Given the description of an element on the screen output the (x, y) to click on. 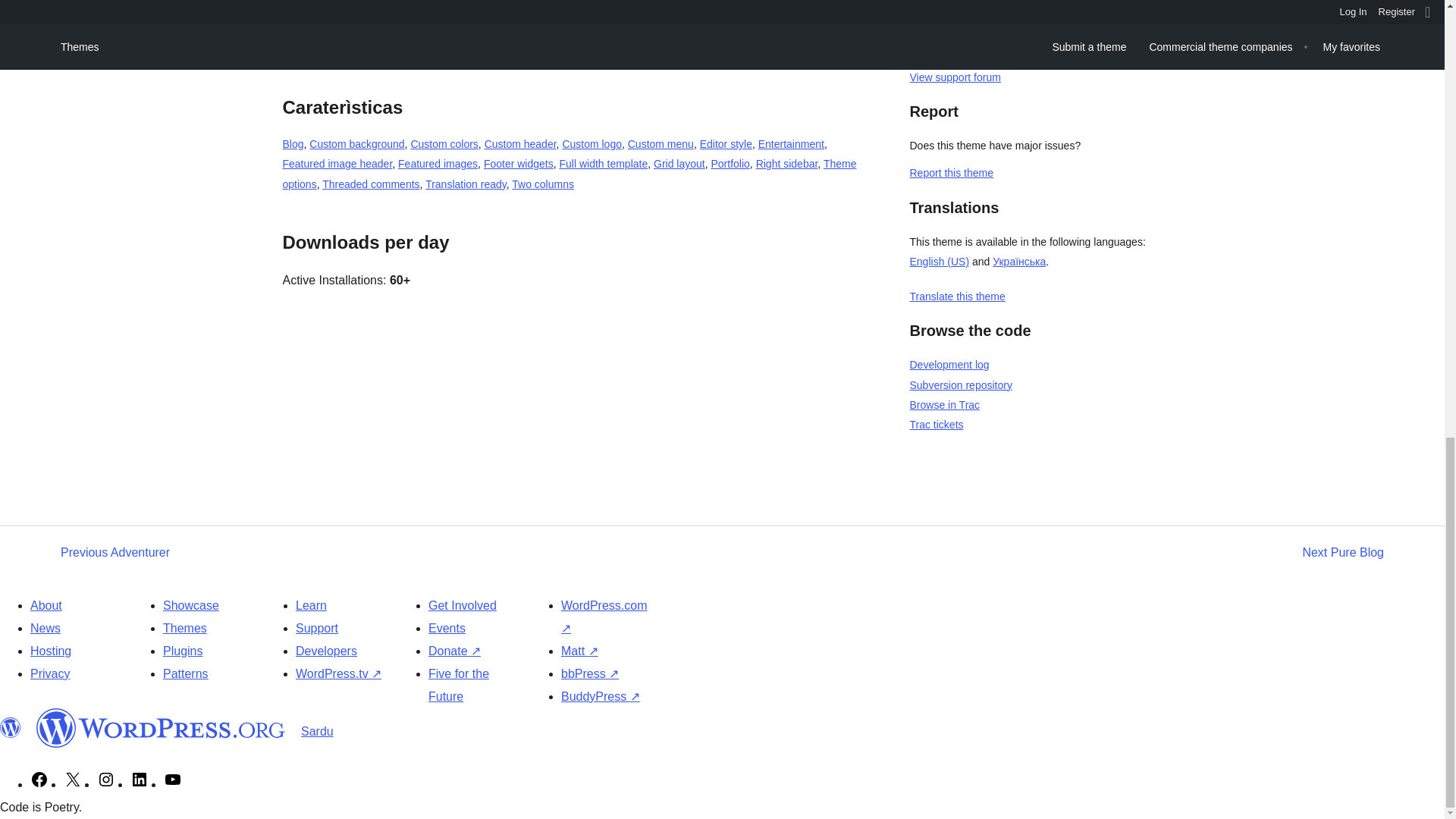
Blog (292, 143)
WordPress.org (160, 727)
WordPress.org (10, 727)
Editor style (726, 143)
Entertainment (791, 143)
Custom menu (660, 143)
Featured image header (336, 163)
Custom background (356, 143)
Custom logo (591, 143)
Custom header (520, 143)
Custom colors (443, 143)
